Given the description of an element on the screen output the (x, y) to click on. 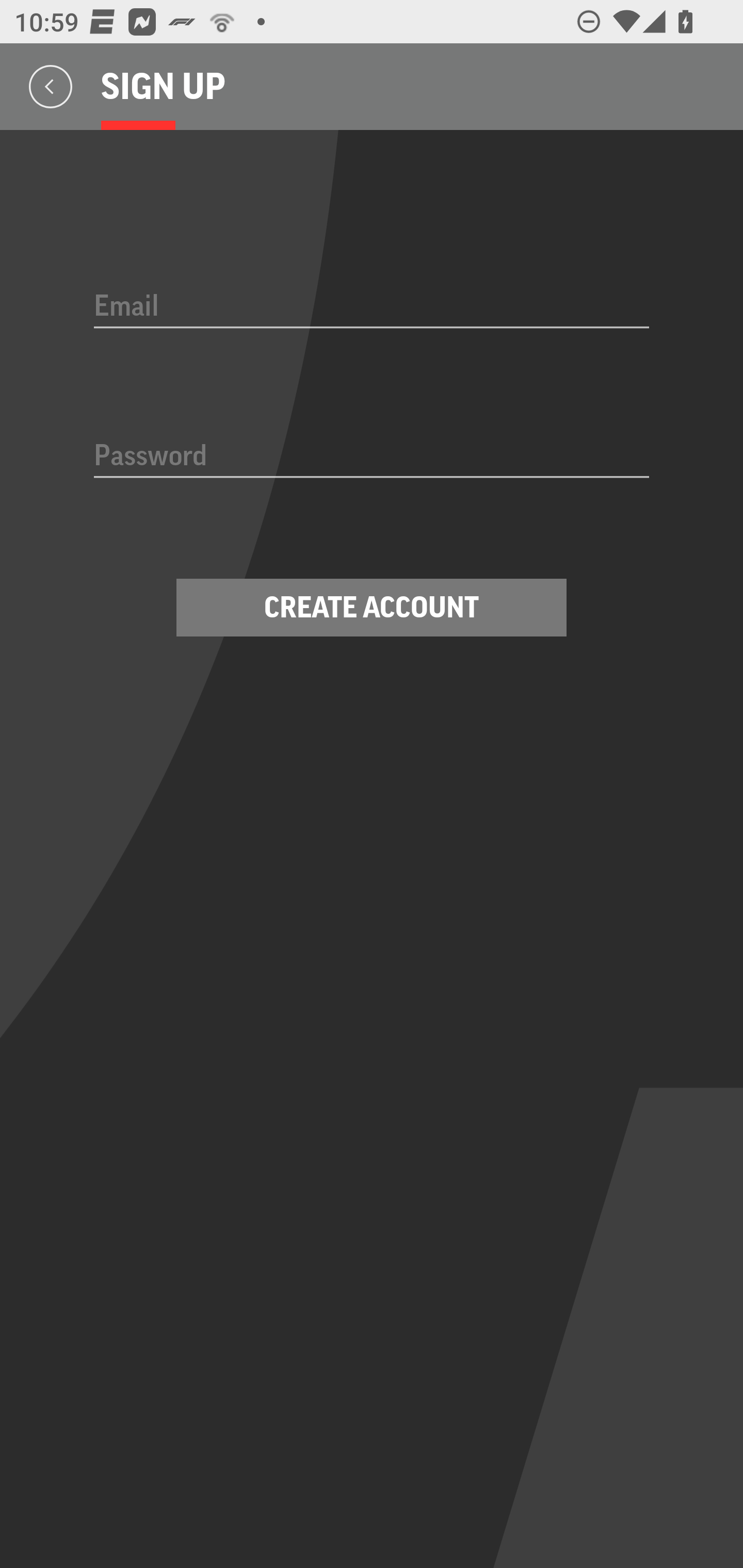
Email (371, 306)
Password (371, 456)
CREATE ACCOUNT (371, 607)
